Given the description of an element on the screen output the (x, y) to click on. 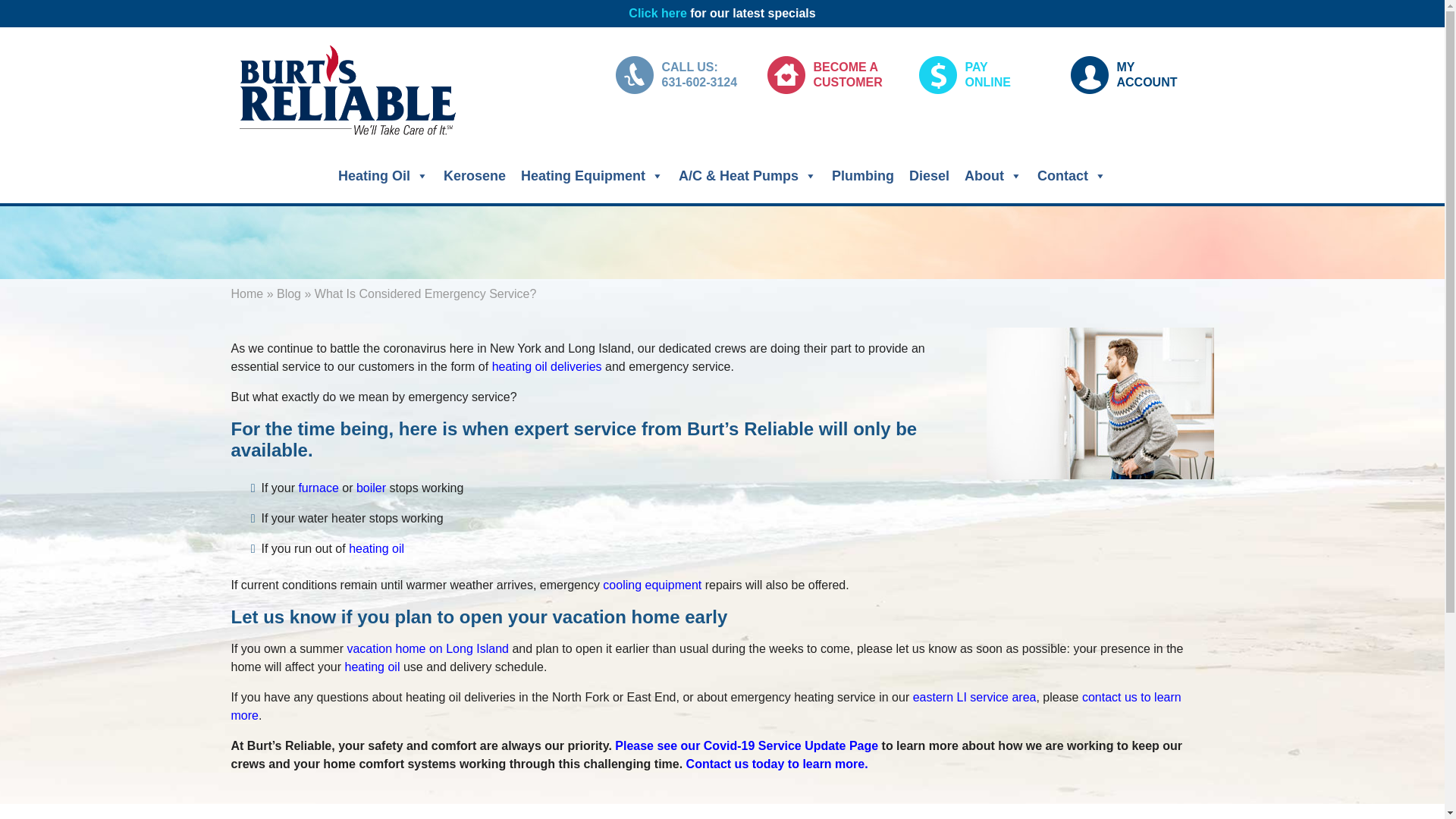
contact us (705, 706)
About (992, 175)
furnaces (317, 487)
Heating Equipment (592, 175)
Plumbing (862, 175)
Click here (656, 12)
BECOME A CUSTOMER (834, 75)
Diesel (928, 175)
vacation home (427, 648)
heating oil (376, 548)
covid19 (745, 745)
delivery options (547, 366)
Kerosene (1136, 75)
